Given the description of an element on the screen output the (x, y) to click on. 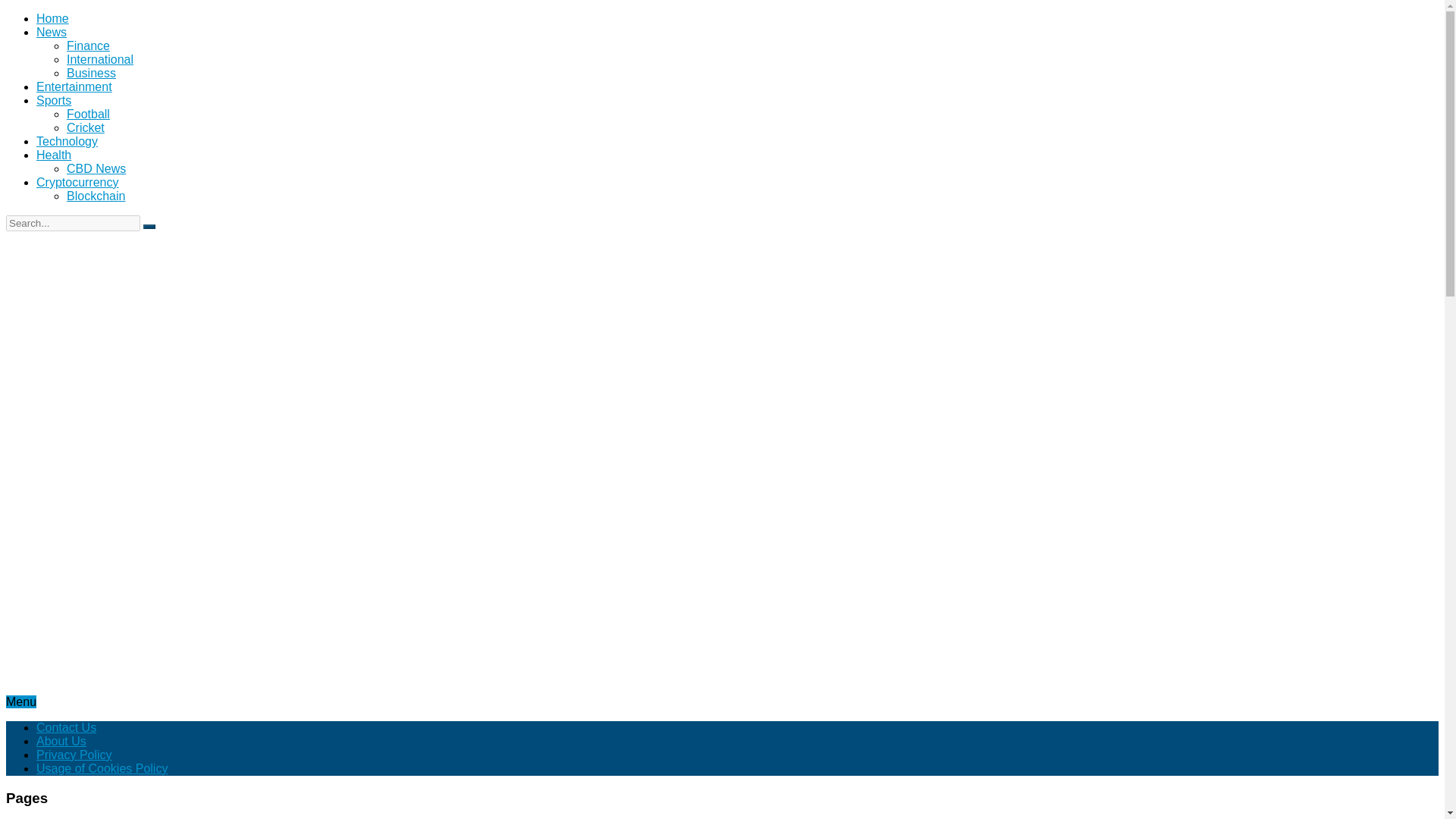
Entertainment (74, 86)
News (51, 31)
International (99, 59)
Cricket (85, 127)
About Us (60, 740)
Usage of Cookies Policy (101, 768)
CBD News (95, 168)
Privacy Policy (74, 754)
Finance (88, 45)
Home (52, 18)
